Given the description of an element on the screen output the (x, y) to click on. 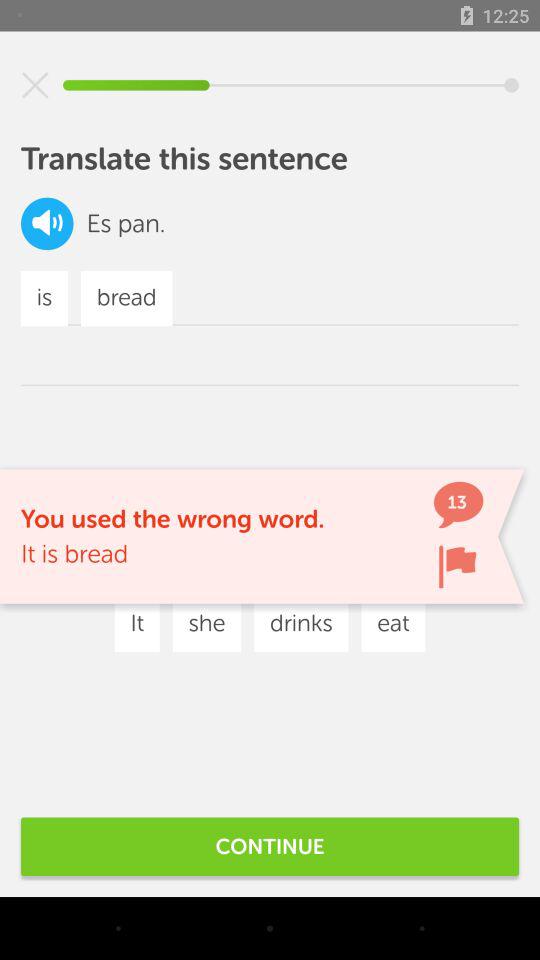
listen to pronunciation (47, 223)
